Given the description of an element on the screen output the (x, y) to click on. 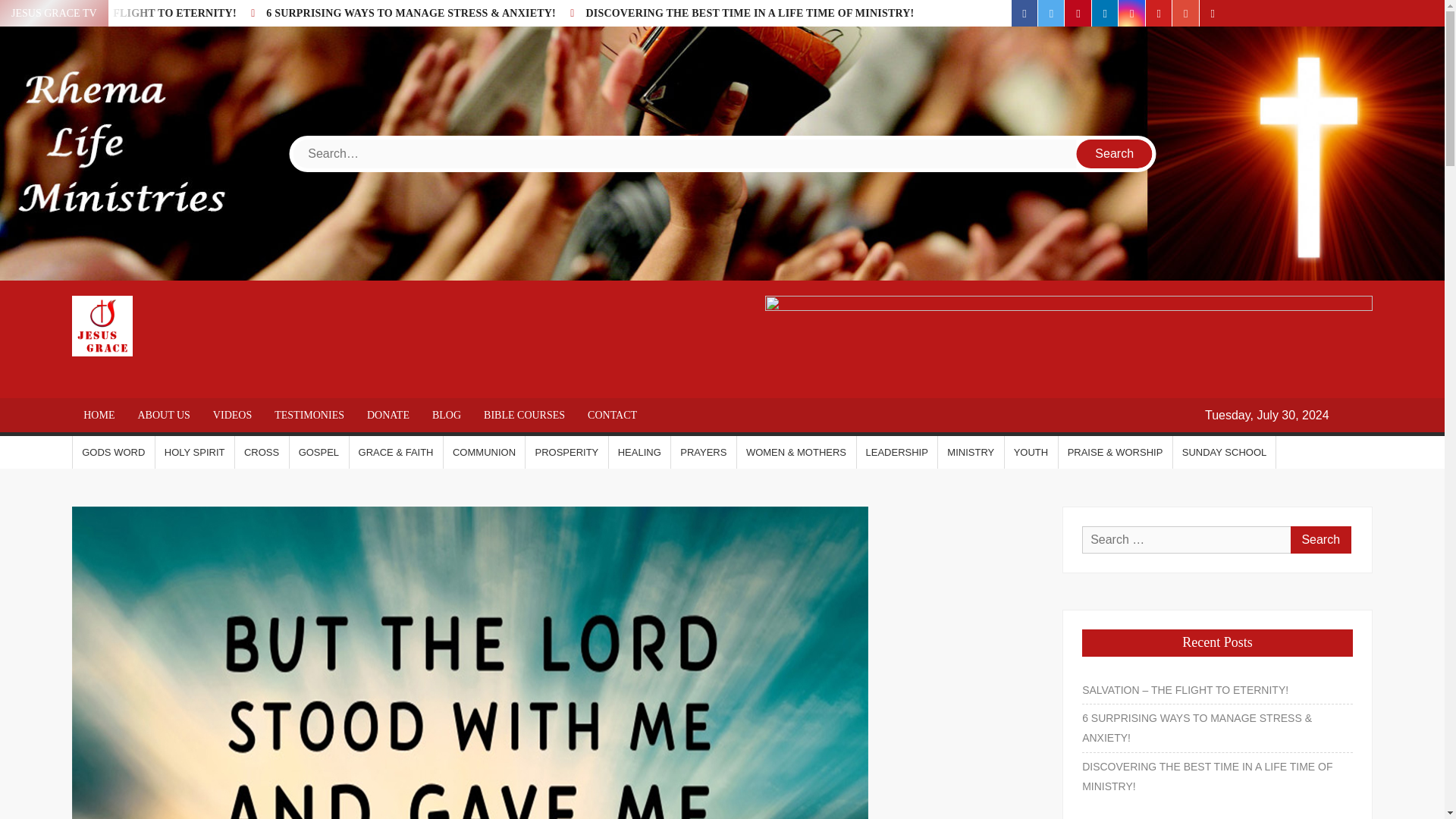
pinterest (1077, 13)
linkedin (1105, 13)
Search (1320, 539)
Search (1320, 539)
twitter (1051, 13)
DISCOVERING THE BEST TIME IN A LIFE TIME OF MINISTRY! (749, 12)
DISCOVERING THE BEST TIME IN A LIFE TIME OF MINISTRY! (749, 12)
facebook (1024, 13)
Search (1115, 153)
Search (1115, 153)
